Given the description of an element on the screen output the (x, y) to click on. 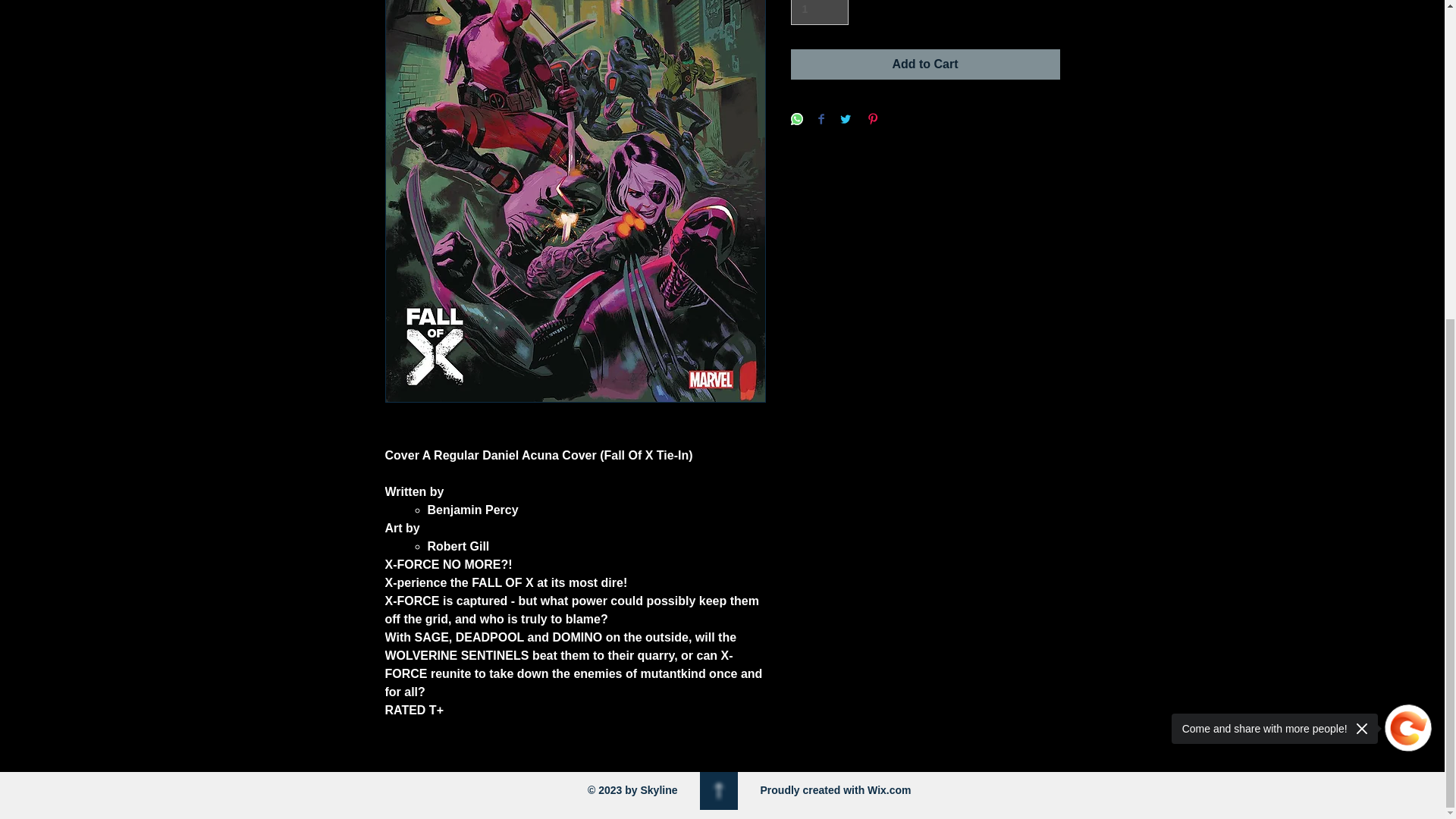
1 (818, 12)
Proudly created with Wix.com (835, 789)
Add to Cart (924, 64)
